Given the description of an element on the screen output the (x, y) to click on. 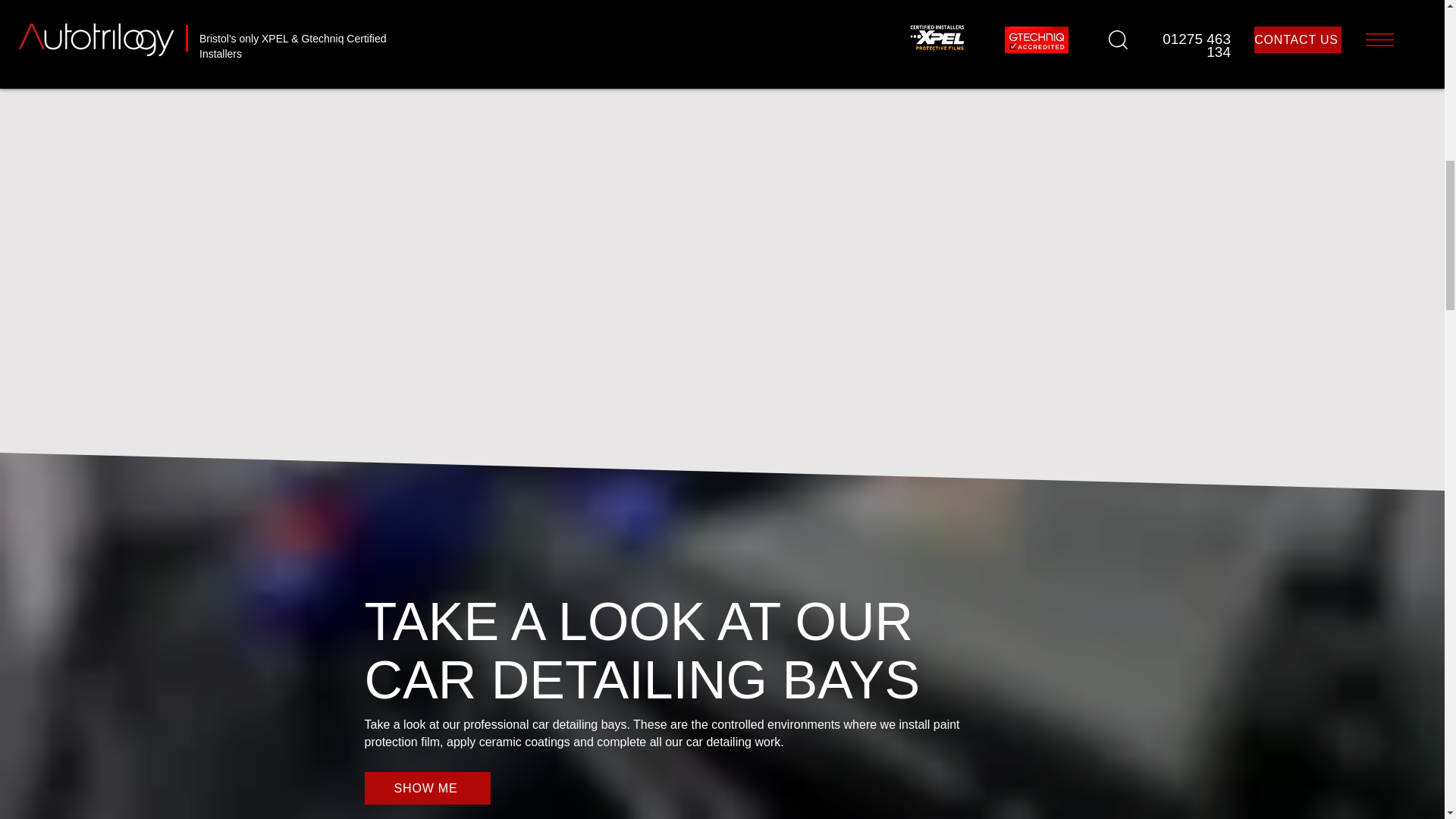
SHOW ME (426, 788)
